Given the description of an element on the screen output the (x, y) to click on. 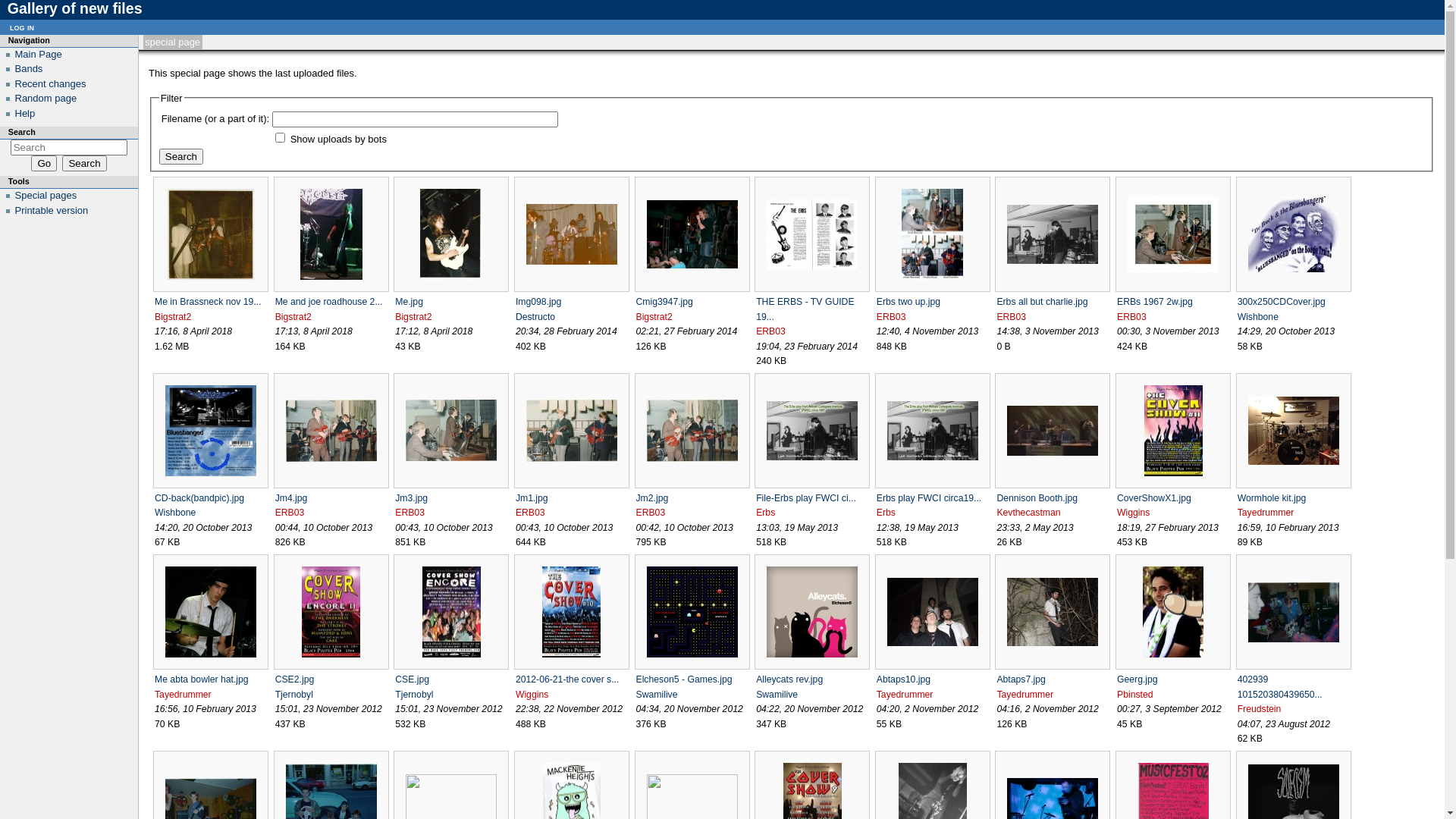
Recent changes Element type: text (50, 83)
Wiggins Element type: text (1133, 512)
ERB03 Element type: text (530, 512)
Wiggins Element type: text (531, 694)
CSE.jpg Element type: text (412, 679)
Erbs play FWCI circa19... Element type: text (929, 497)
Abtaps10.jpg Element type: text (903, 679)
Cmig3947.jpg Element type: text (663, 301)
Swamilive Element type: text (656, 694)
ERB03 Element type: text (289, 512)
special page Element type: text (172, 41)
CD-back(bandpic).jpg Element type: text (199, 497)
Search Thunder Bay Bandwiki [alt-shift-f] Element type: hover (69, 147)
Erbs two up.jpg Element type: text (908, 301)
Bigstrat2 Element type: text (293, 316)
Help Element type: text (25, 113)
File-Erbs play FWCI ci... Element type: text (806, 497)
ERB03 Element type: text (1011, 316)
Pbinsted Element type: text (1135, 694)
Main Page Element type: text (38, 53)
2012-06-21-the cover s... Element type: text (567, 679)
Wormhole kit.jpg Element type: text (1271, 497)
ERB03 Element type: text (409, 512)
Tayedrummer Element type: text (1024, 694)
Me abta bowler hat.jpg Element type: text (201, 679)
Swamilive Element type: text (776, 694)
Bigstrat2 Element type: text (413, 316)
CSE2.jpg Element type: text (294, 679)
Freudstein Element type: text (1259, 708)
Geerg.jpg Element type: text (1137, 679)
ERB03 Element type: text (770, 331)
THE ERBS - TV GUIDE 19... Element type: text (804, 309)
Special pages Element type: text (46, 194)
Elcheson5 - Games.jpg Element type: text (683, 679)
Jm2.jpg Element type: text (651, 497)
Img098.jpg Element type: text (538, 301)
Jm1.jpg Element type: text (531, 497)
Bigstrat2 Element type: text (653, 316)
Erbs Element type: text (765, 512)
Go Element type: text (43, 163)
Erbs Element type: text (885, 512)
Dennison Booth.jpg Element type: text (1036, 497)
log in Element type: text (21, 26)
Tayedrummer Element type: text (1265, 512)
Bands Element type: text (29, 68)
402939 101520380439650... Element type: text (1279, 686)
ERB03 Element type: text (1131, 316)
Wishbone Element type: text (174, 512)
Me and joe roadhouse 2... Element type: text (328, 301)
Erbs all but charlie.jpg Element type: text (1041, 301)
Kevthecastman Element type: text (1028, 512)
Search the pages for this text Element type: hover (84, 163)
Me in Brassneck nov 19... Element type: text (207, 301)
Wishbone Element type: text (1257, 316)
Tayedrummer Element type: text (904, 694)
Alleycats rev.jpg Element type: text (789, 679)
Destructo Element type: text (535, 316)
Random page Element type: text (46, 97)
Jm3.jpg Element type: text (411, 497)
CoverShowX1.jpg Element type: text (1154, 497)
ERB03 Element type: text (650, 512)
Tayedrummer Element type: text (182, 694)
Search Element type: text (84, 163)
ERB03 Element type: text (891, 316)
Bigstrat2 Element type: text (172, 316)
Tjernobyl Element type: text (414, 694)
Go to a page with this exact name if exists Element type: hover (43, 163)
Me.jpg Element type: text (409, 301)
Tjernobyl Element type: text (294, 694)
Jm4.jpg Element type: text (291, 497)
300x250CDCover.jpg Element type: text (1281, 301)
Search Element type: text (181, 156)
ERBs 1967 2w.jpg Element type: text (1154, 301)
Abtaps7.jpg Element type: text (1020, 679)
Printable version Element type: text (51, 210)
